Given the description of an element on the screen output the (x, y) to click on. 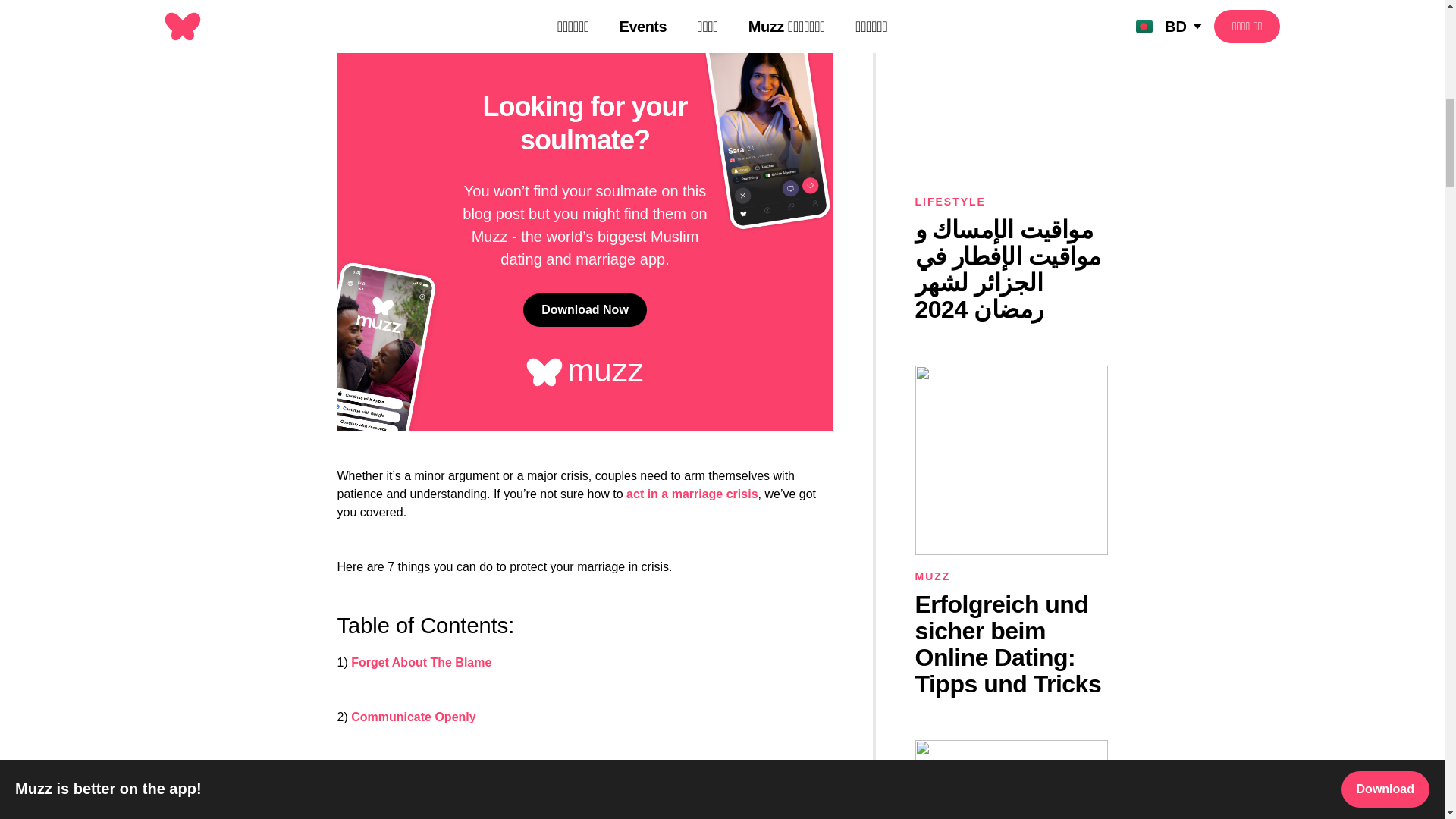
Respect Your Partner (412, 771)
Download Now (584, 309)
marriage falls into a crisis (565, 6)
Forget About The Blame (421, 662)
Communicate Openly (413, 716)
act in a marriage crisis (691, 493)
